Given the description of an element on the screen output the (x, y) to click on. 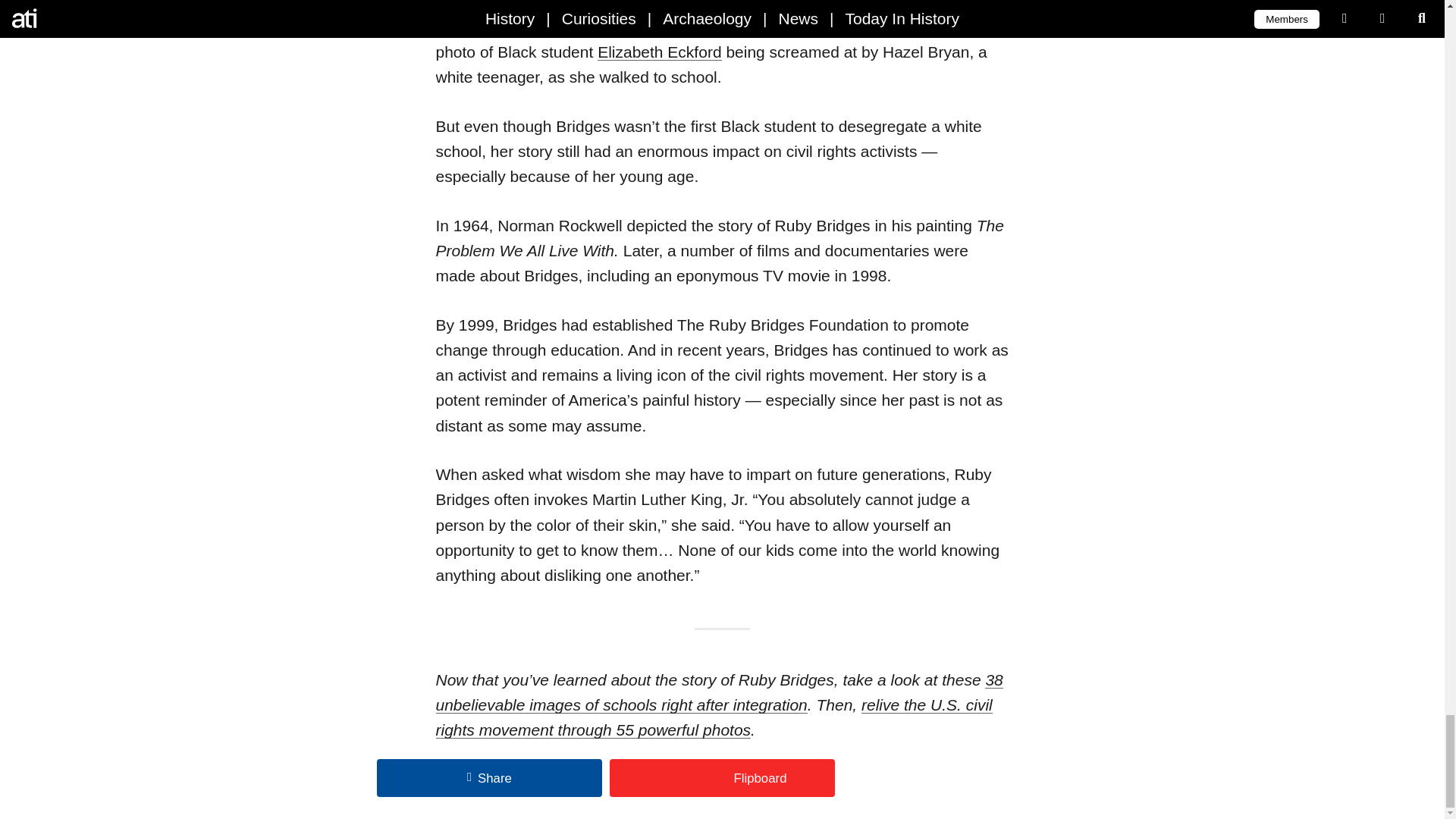
Share (489, 777)
38 unbelievable images of schools right after integration (719, 691)
Elizabeth Eckford (658, 51)
Flipboard (722, 777)
